Given the description of an element on the screen output the (x, y) to click on. 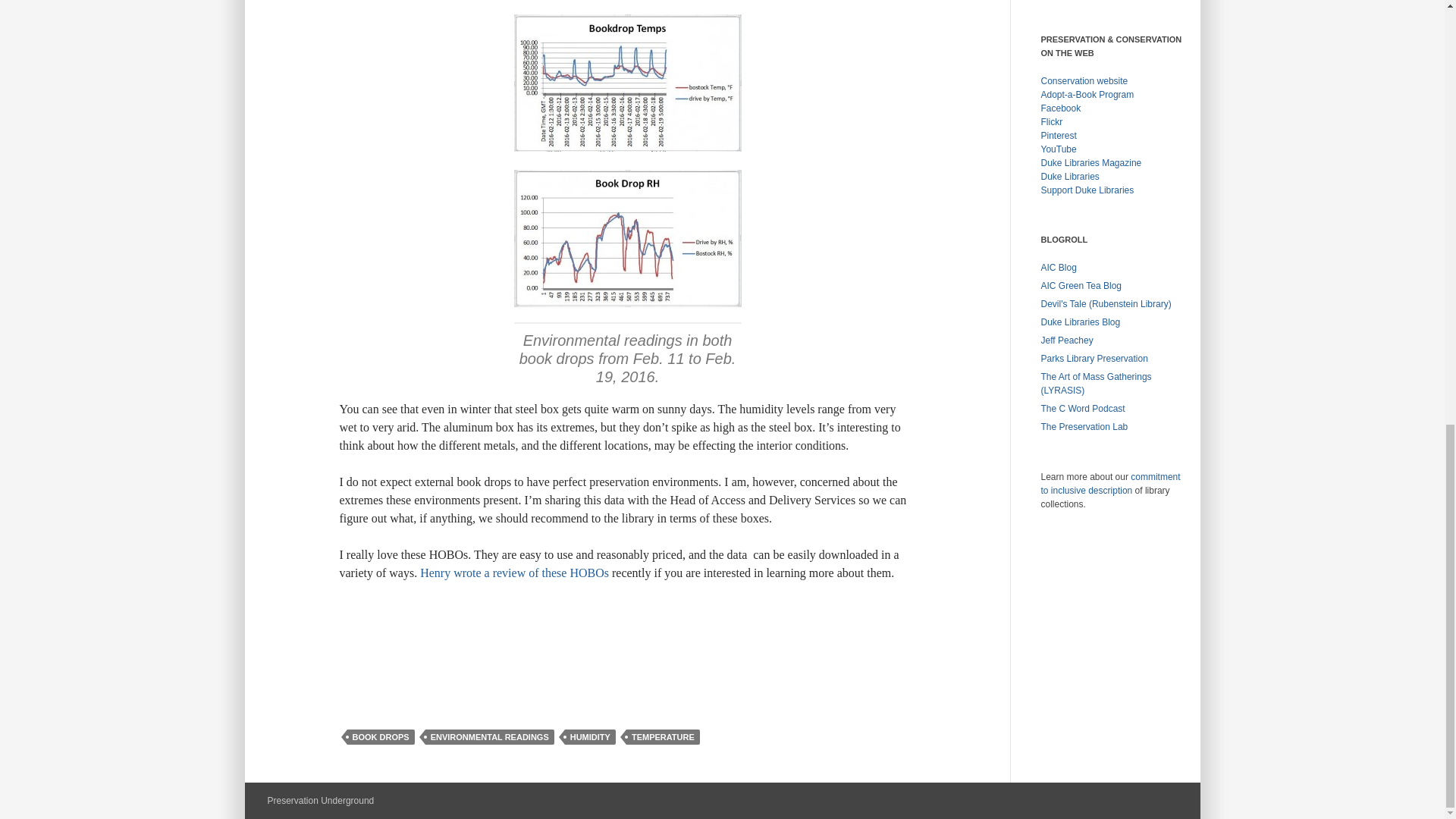
Iowa State University Preservation Department (1094, 357)
Henry wrote a review of these HOBOs (514, 572)
Support Duke Libraries (1087, 190)
Duke Libraries Magazine (1091, 163)
The blog of the Duke University Rubenstein Library (1105, 303)
Pinterest (1058, 135)
TEMPERATURE (663, 736)
Jeff Peachey is a master bookbinder and toolmaker (1067, 339)
Conservation website (1083, 81)
Adopt-a-Book Program (1087, 94)
Duke Libraries (1070, 176)
AIC Blog (1058, 267)
